Given the description of an element on the screen output the (x, y) to click on. 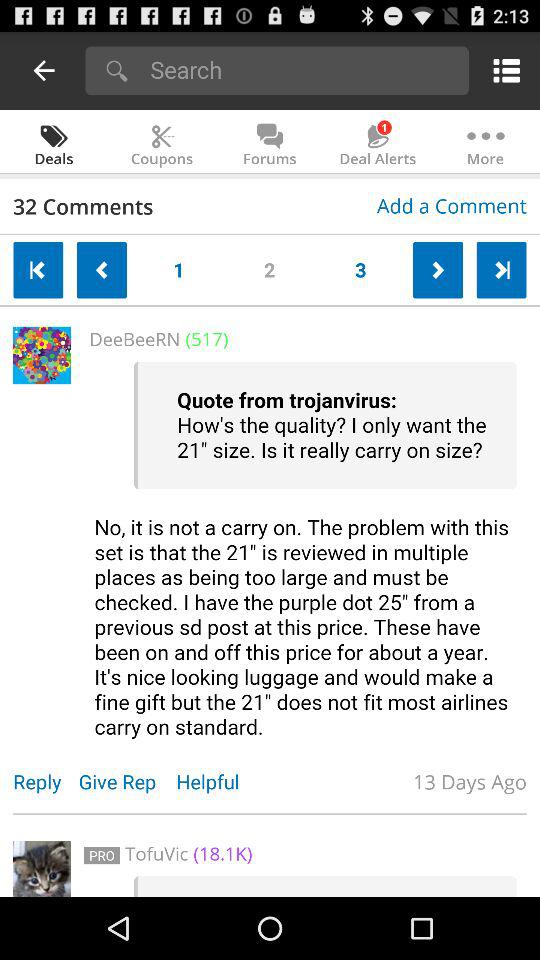
search bar (302, 69)
